Given the description of an element on the screen output the (x, y) to click on. 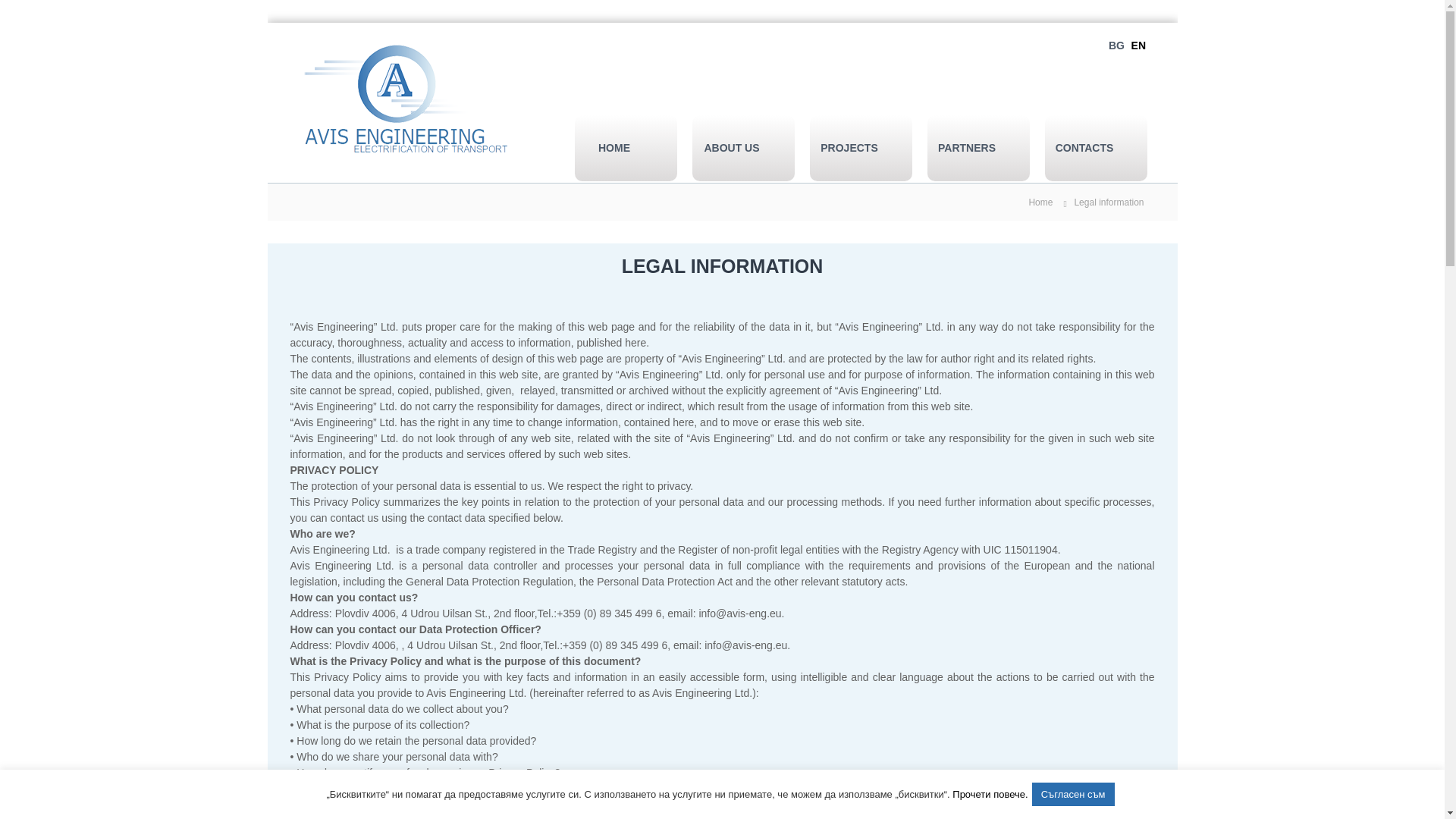
HOME (614, 147)
PROJECTS (849, 147)
ABOUT US (731, 147)
